Given the description of an element on the screen output the (x, y) to click on. 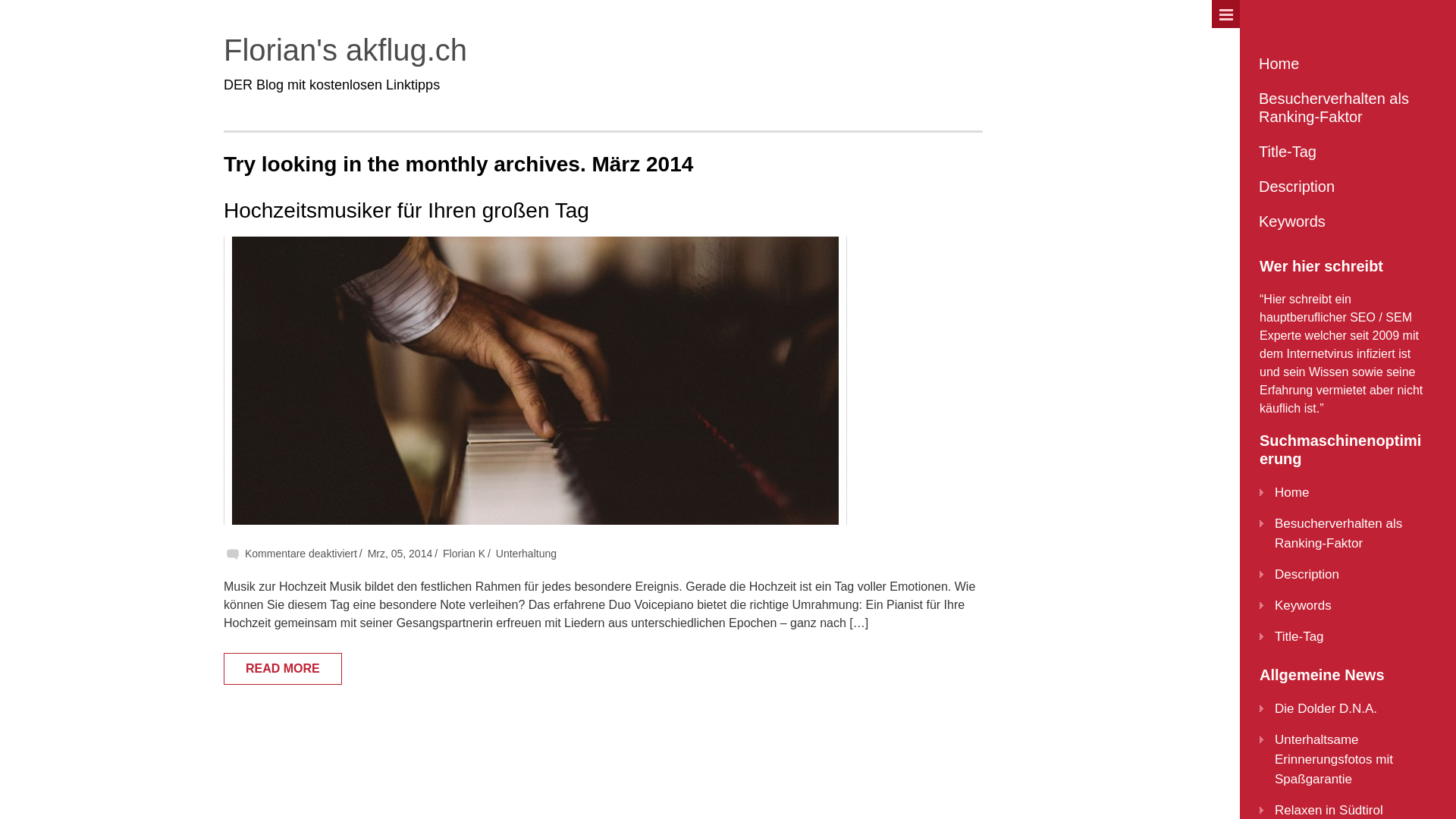
Unterhaltung Element type: text (525, 553)
Title-Tag Element type: text (1340, 151)
Die Dolder D.N.A. Element type: text (1325, 708)
Description Element type: text (1306, 574)
Keywords Element type: text (1302, 605)
Title-Tag Element type: text (1299, 636)
Florian's akflug.ch Element type: text (345, 49)
Keywords Element type: text (1340, 221)
Besucherverhalten als Ranking-Faktor Element type: text (1338, 533)
Home Element type: text (1340, 63)
Description Element type: text (1340, 186)
Home Element type: text (1291, 492)
Florian K Element type: text (463, 553)
READ MORE Element type: text (282, 668)
Besucherverhalten als Ranking-Faktor Element type: text (1340, 107)
